Given the description of an element on the screen output the (x, y) to click on. 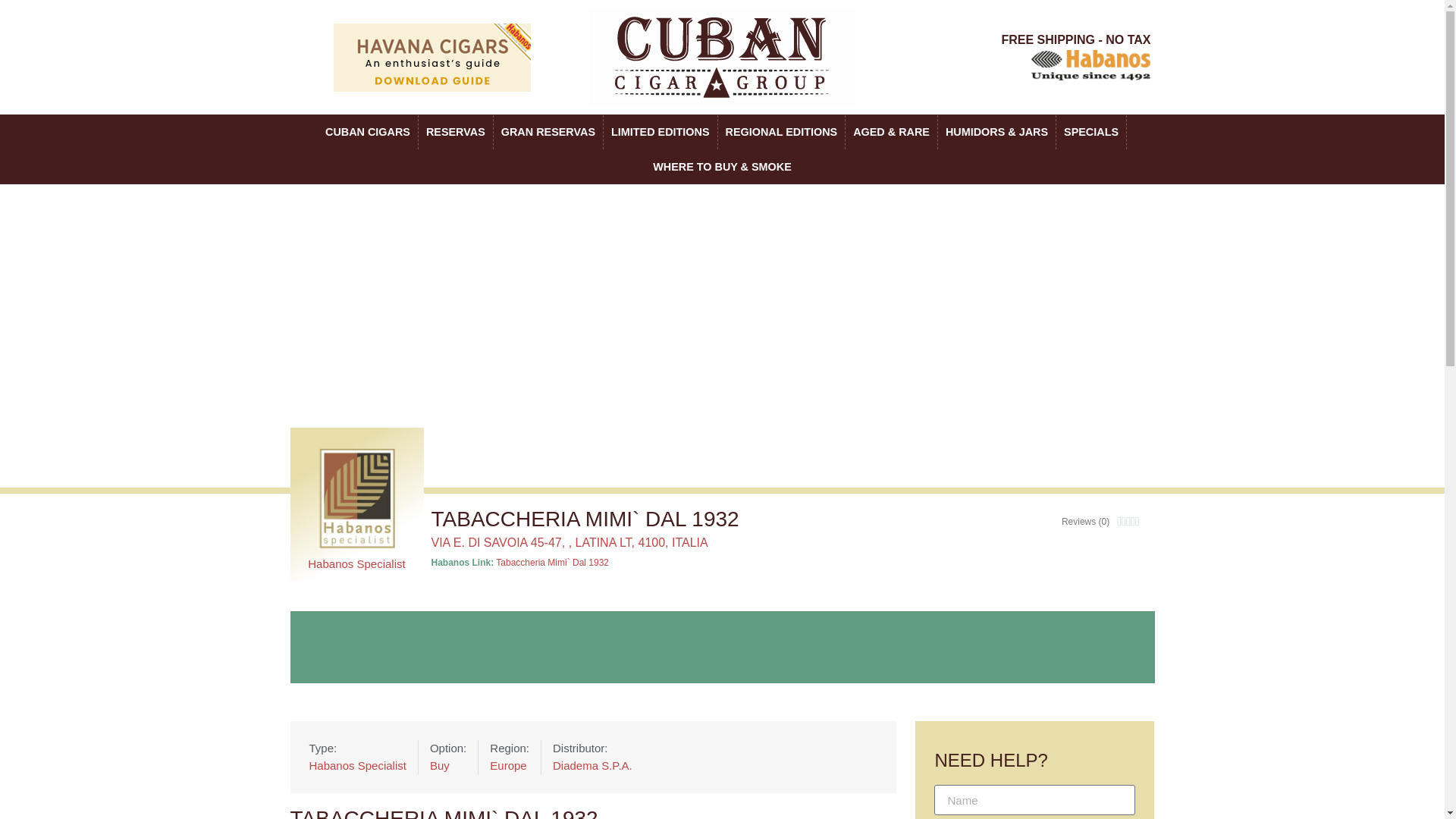
REGIONAL EDITIONS (781, 131)
Buy (447, 765)
RESERVAS (456, 131)
Habanos Specialist (357, 765)
Europe (509, 765)
CUBAN CIGARS (367, 131)
LIMITED EDITIONS (660, 131)
GRAN RESERVAS (547, 131)
SPECIALS (1091, 131)
Diadema S.P.A. (592, 765)
Habanos Specialist (355, 563)
VIA E. DI SAVOIA 45-47, , LATINA LT, 4100, ITALIA (568, 542)
